Given the description of an element on the screen output the (x, y) to click on. 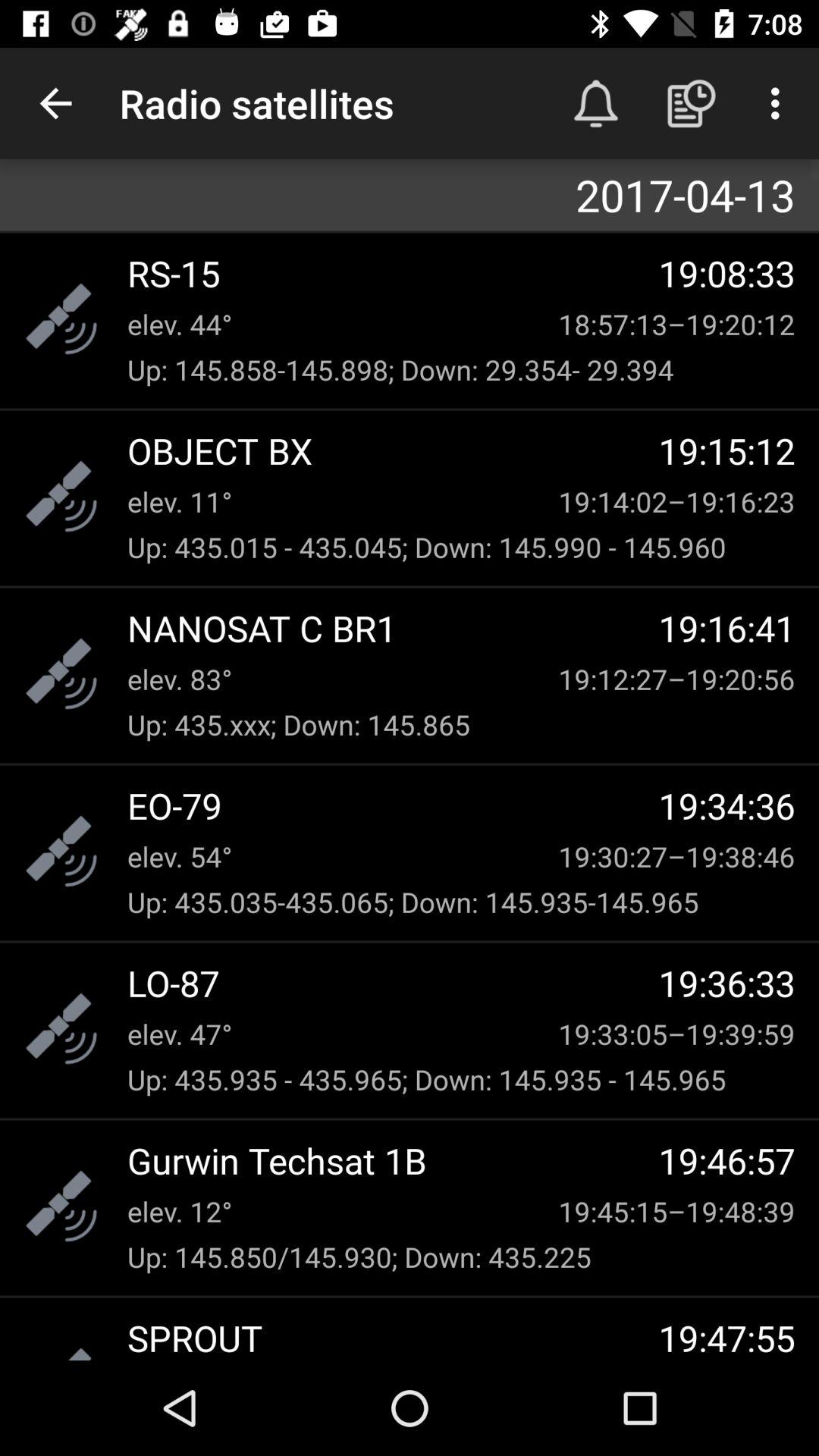
launch the icon next to the radio satellites icon (595, 103)
